Given the description of an element on the screen output the (x, y) to click on. 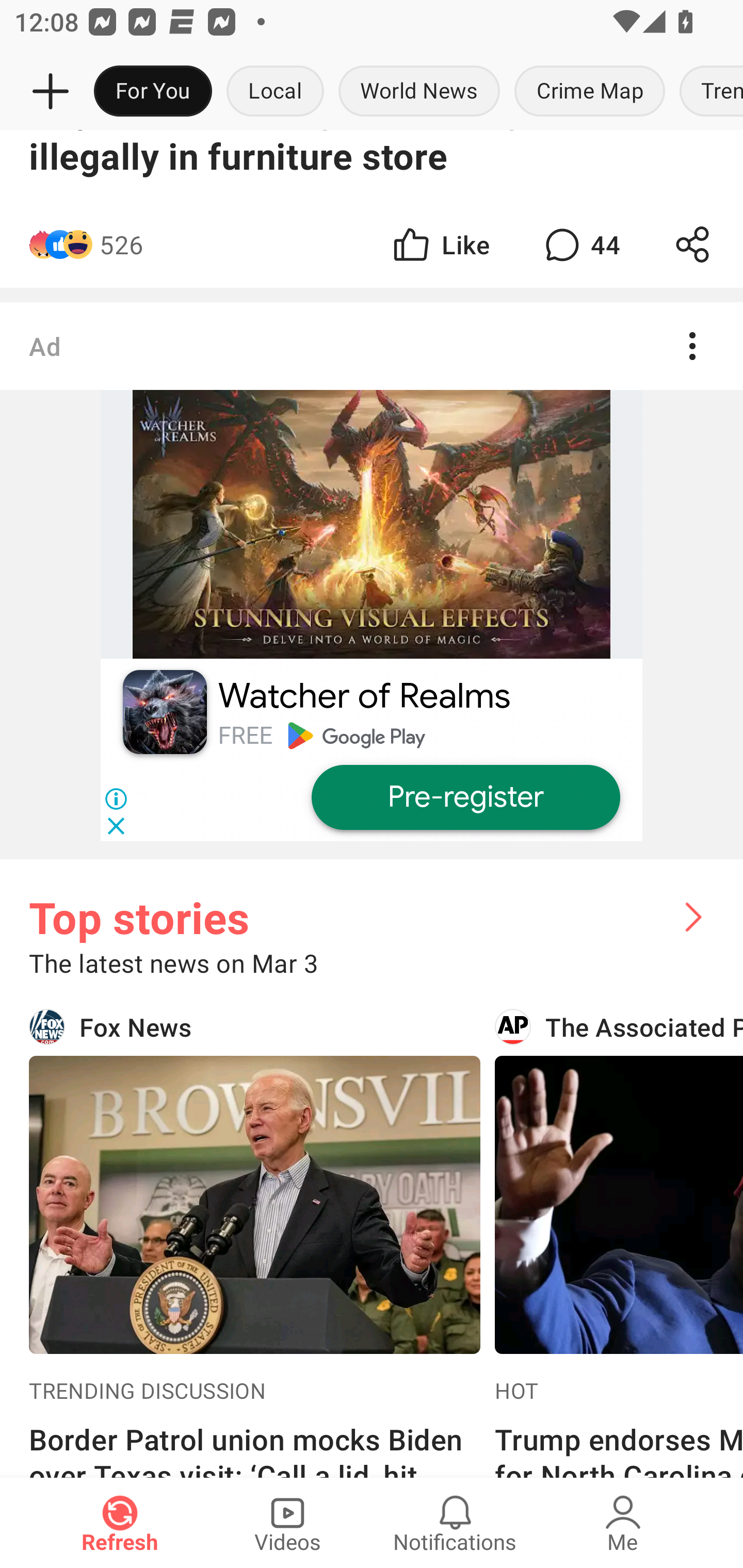
For You (152, 91)
Local (275, 91)
World News (419, 91)
Crime Map (589, 91)
526 (121, 244)
Like (439, 244)
44 (579, 244)
Watcher of Realms (364, 695)
FREE (245, 735)
Pre-register (464, 797)
Top stories (371, 902)
Videos (287, 1522)
Notifications (455, 1522)
Me (622, 1522)
